Given the description of an element on the screen output the (x, y) to click on. 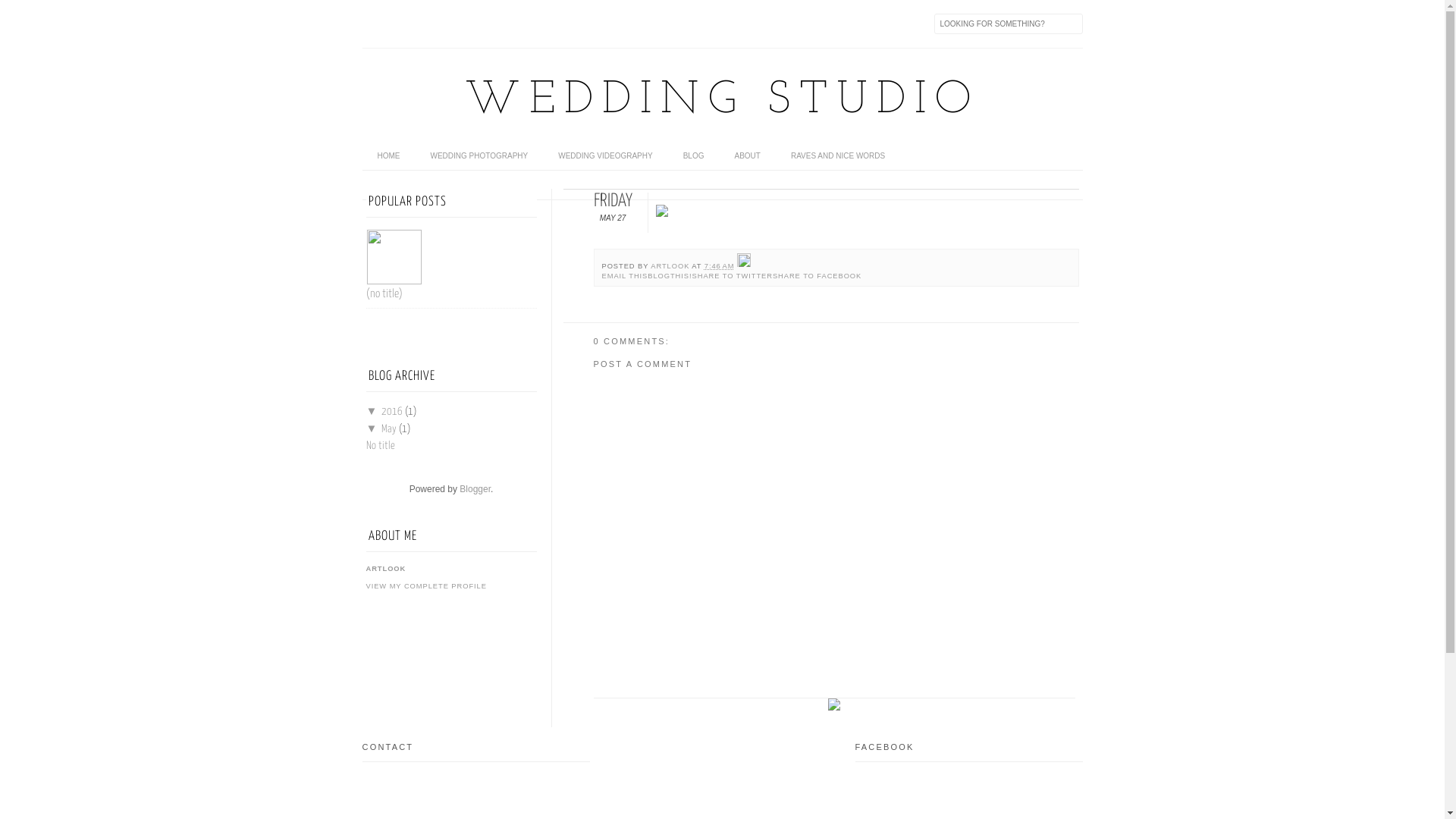
Youtube Element type: text (501, 23)
WEDDING VIDEOGRAPHY Element type: text (604, 155)
2016 Element type: text (392, 411)
SHARE TO FACEBOOK Element type: text (816, 275)
ARTLOOK Element type: text (670, 265)
WEDDING STUDIO Element type: text (721, 100)
VIEW MY COMPLETE PROFILE Element type: text (425, 585)
EMAIL THIS Element type: text (625, 275)
ABOUT Element type: text (746, 155)
Twitter Element type: text (438, 23)
ARTLOOK Element type: text (385, 567)
Feed Element type: text (374, 23)
WEDDING PHOTOGRAPHY Element type: text (479, 155)
No title Element type: text (379, 445)
Edit Post Element type: hover (743, 265)
BLOGTHIS! Element type: text (669, 275)
Blogger Element type: text (474, 488)
Instagram Element type: text (533, 23)
(no title) Element type: text (383, 293)
BLOG Element type: text (693, 155)
HOME Element type: text (388, 155)
Facebook Element type: text (406, 23)
May Element type: text (389, 428)
Skype Element type: text (565, 23)
GPlus Element type: text (470, 23)
RAVES AND NICE WORDS Element type: text (837, 155)
SHARE TO TWITTER Element type: text (732, 275)
